Given the description of an element on the screen output the (x, y) to click on. 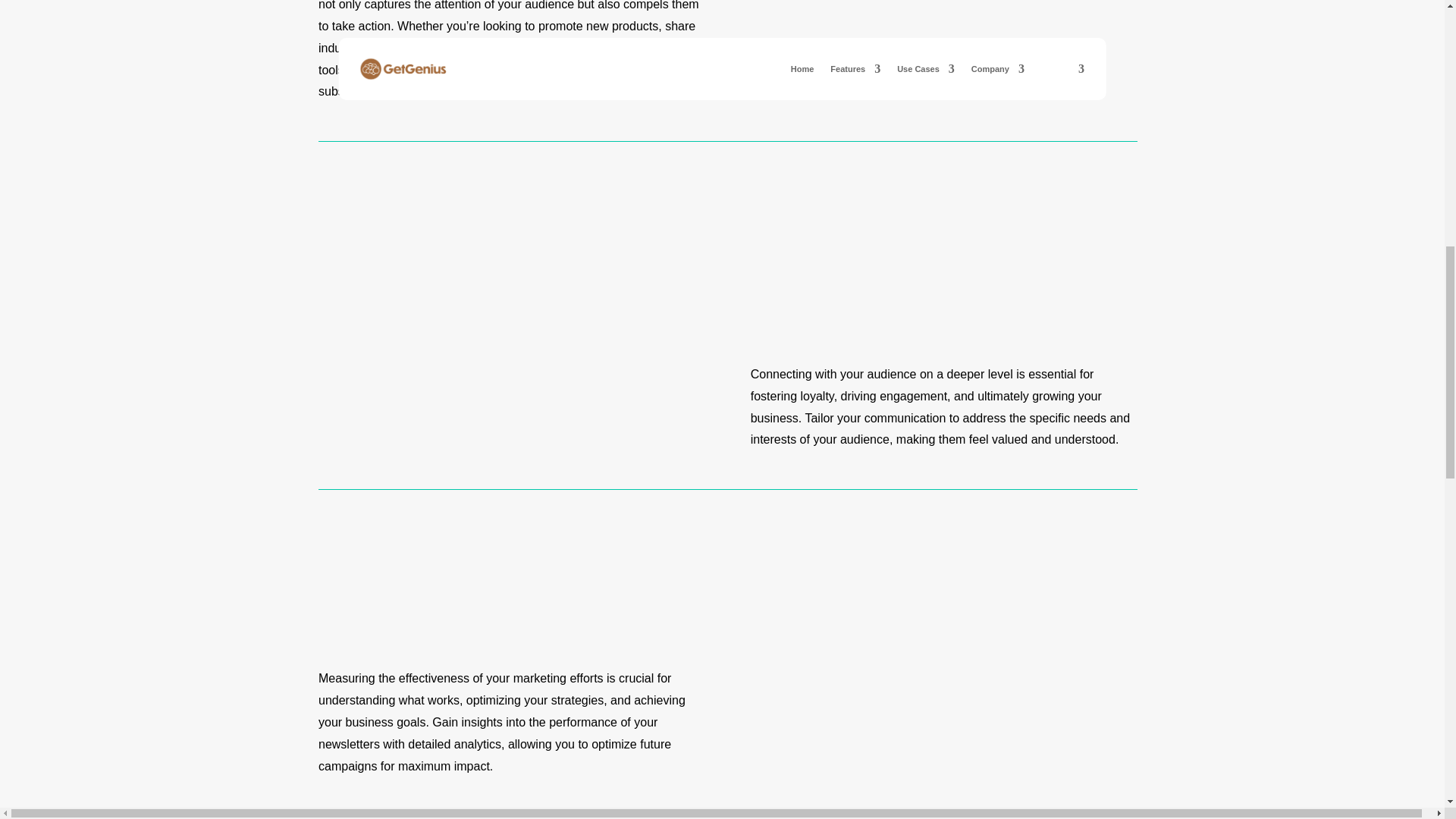
1 (511, 325)
